Given the description of an element on the screen output the (x, y) to click on. 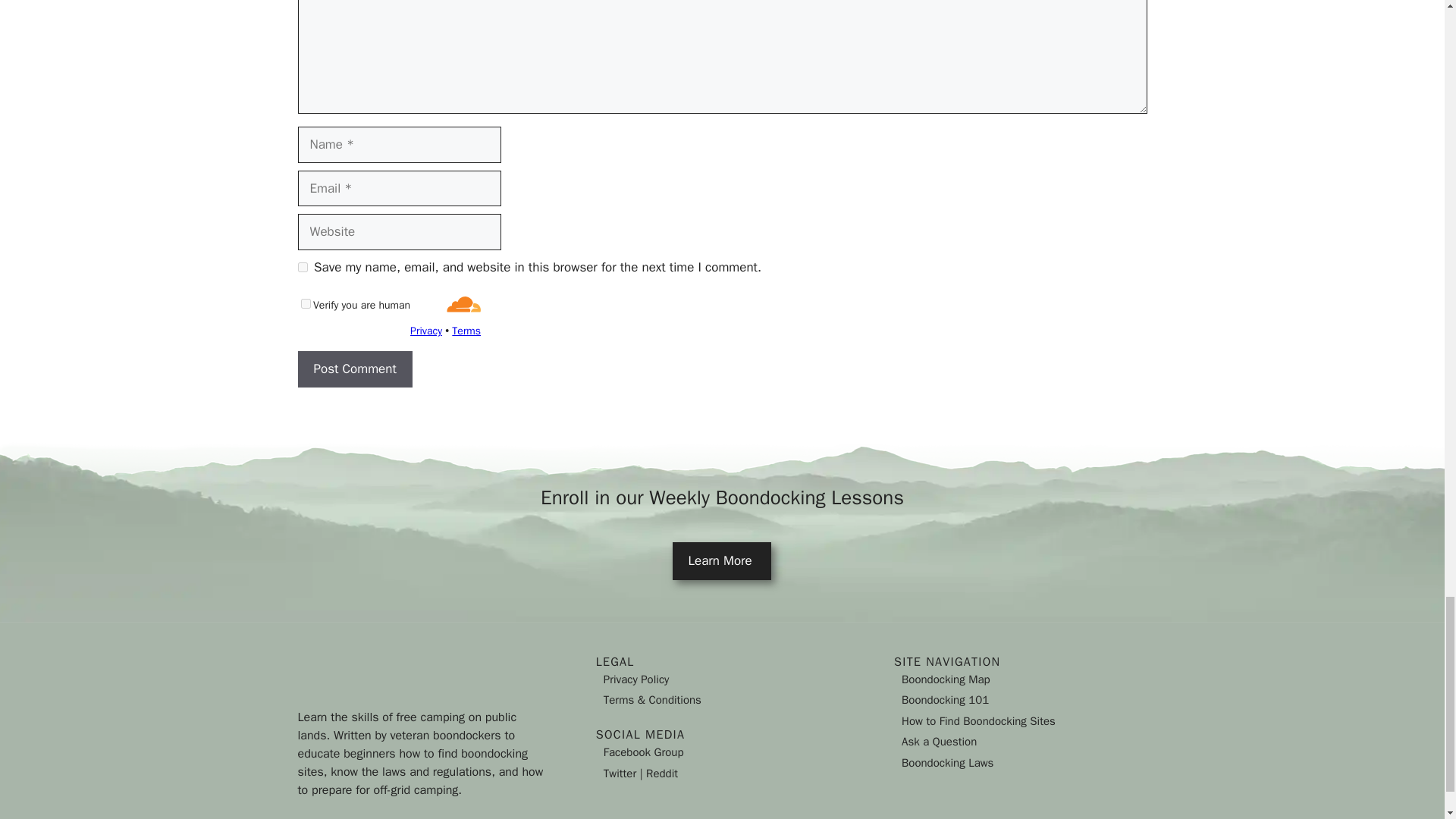
Boondocking Map (945, 679)
Learn More (721, 560)
Boondocking 101 (944, 699)
Reddit (662, 773)
Twitter (620, 773)
Post Comment (354, 369)
Privacy Policy (636, 679)
Facebook Group (644, 752)
yes (302, 266)
How to Find Boondocking Sites (978, 721)
